Given the description of an element on the screen output the (x, y) to click on. 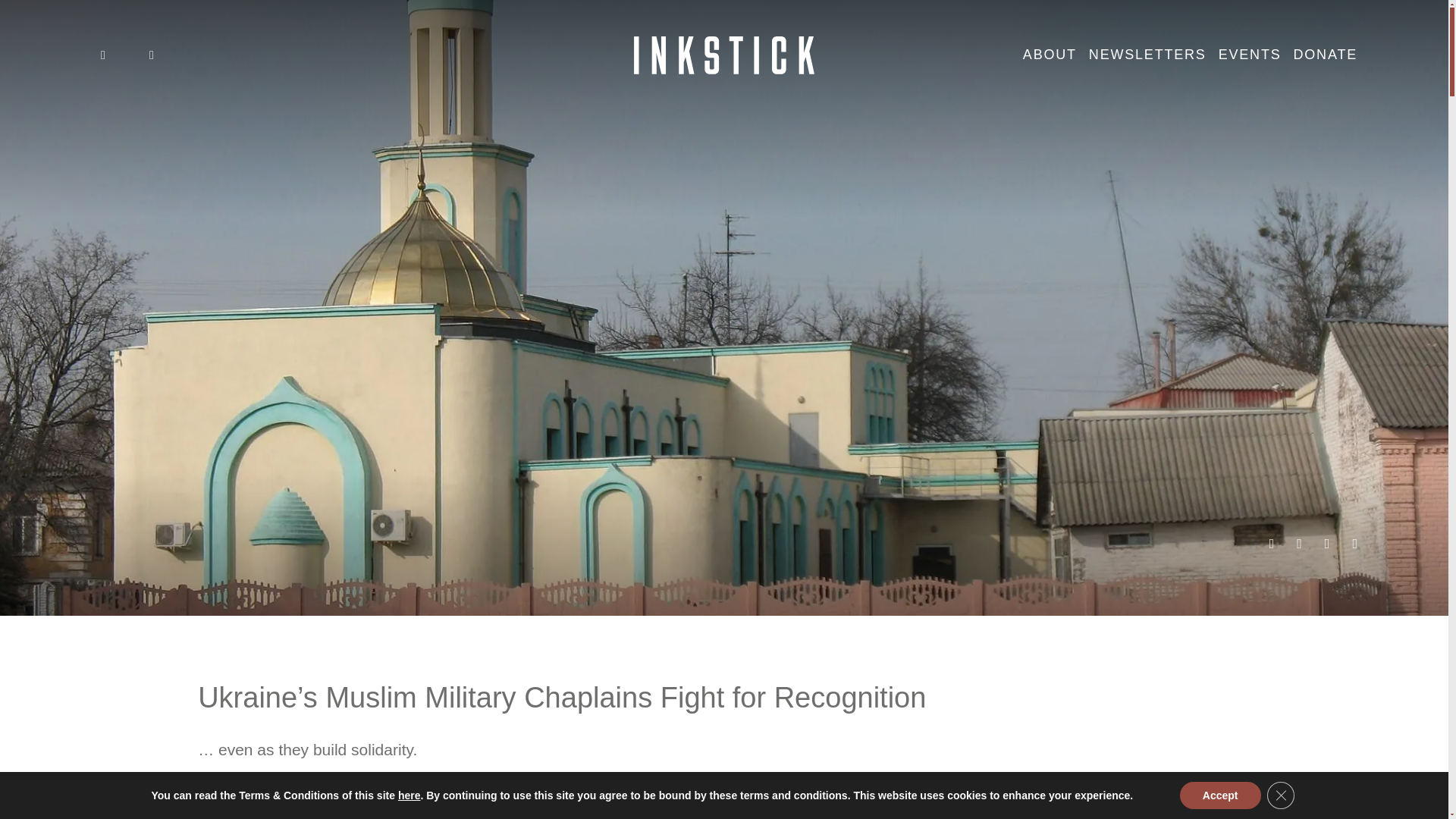
NEWSLETTERS (1148, 54)
Share at Facebook (1327, 544)
Tweet It (1299, 544)
Share at LinkedIn (1272, 544)
EVENTS (1249, 54)
DONATE (1325, 54)
ABOUT (1050, 54)
